Given the description of an element on the screen output the (x, y) to click on. 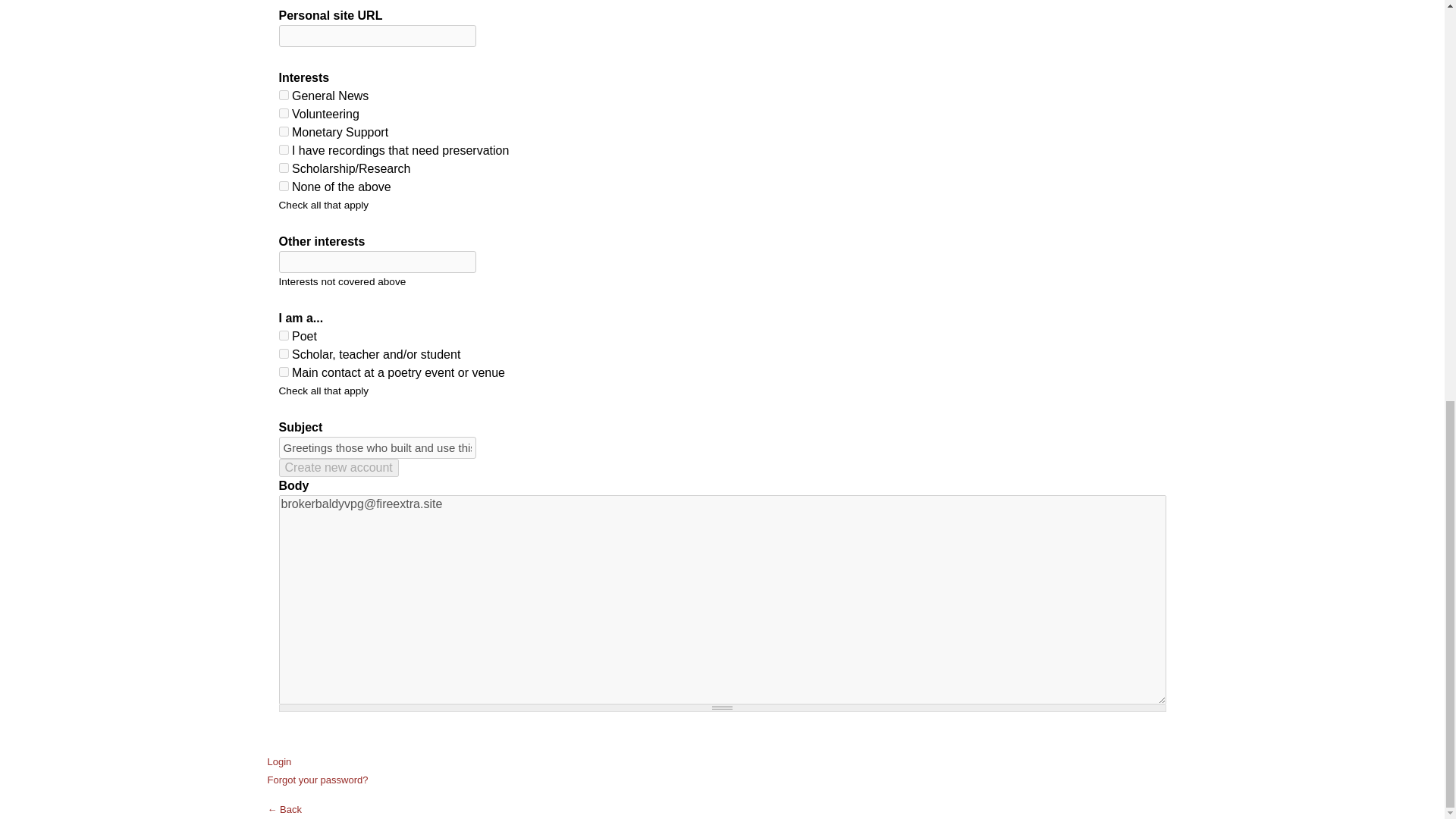
Create new account (338, 467)
281 (283, 335)
Login (278, 761)
282 (283, 353)
279 (283, 149)
278 (283, 131)
276 (283, 94)
285 (283, 167)
Forgot your password? (317, 779)
284 (283, 185)
Greetings those who built and use this site (377, 447)
283 (283, 371)
277 (283, 112)
Create new account (338, 467)
